Given the description of an element on the screen output the (x, y) to click on. 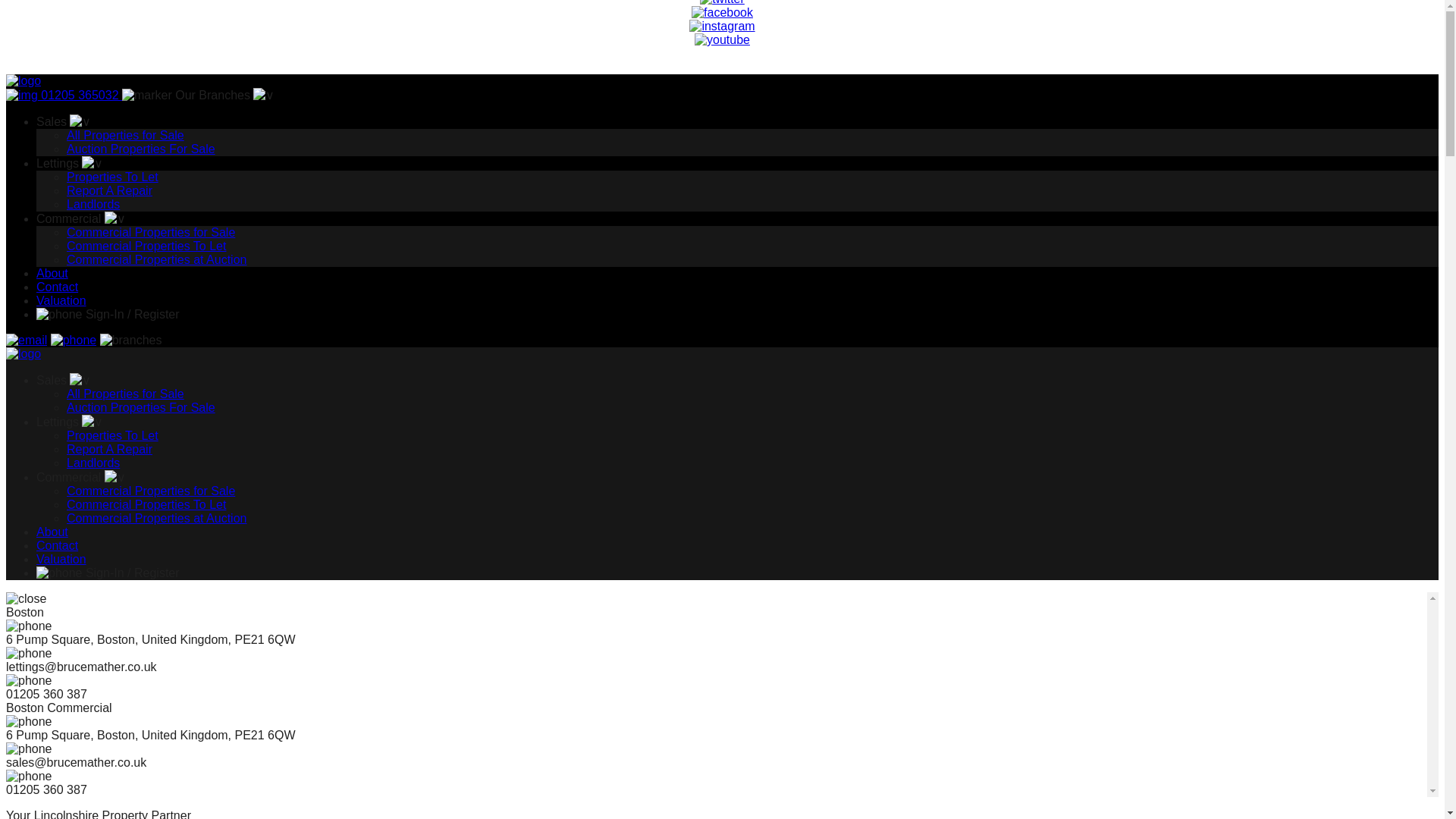
About (52, 531)
Properties To Let (112, 435)
Our Branches (198, 94)
Commercial Properties at Auction (156, 259)
Sales (63, 379)
All Properties for Sale (125, 393)
Commercial Properties at Auction (156, 517)
Landlords (92, 204)
All Properties for Sale (125, 134)
Commercial (80, 477)
